Given the description of an element on the screen output the (x, y) to click on. 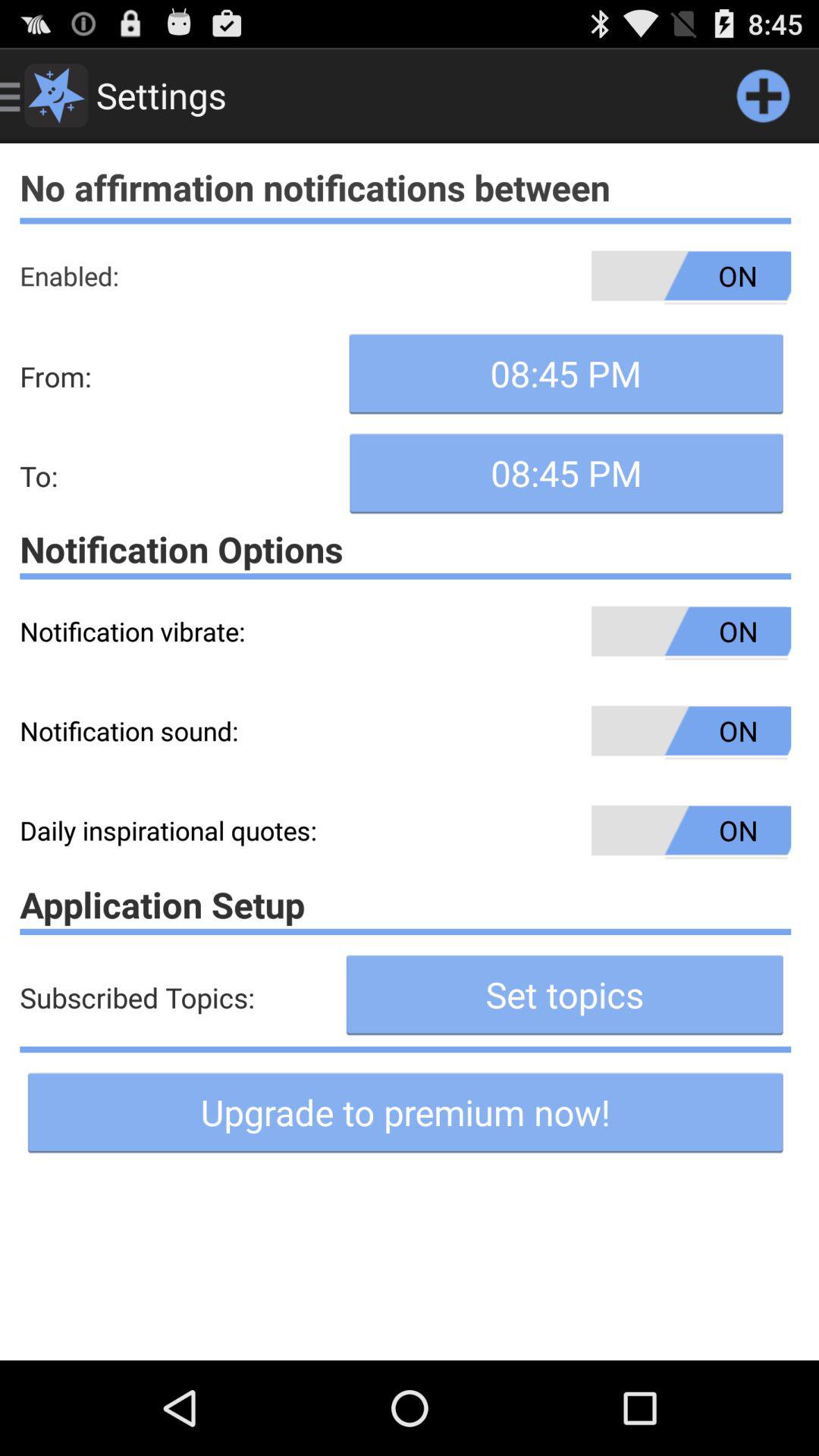
add notification (763, 95)
